Given the description of an element on the screen output the (x, y) to click on. 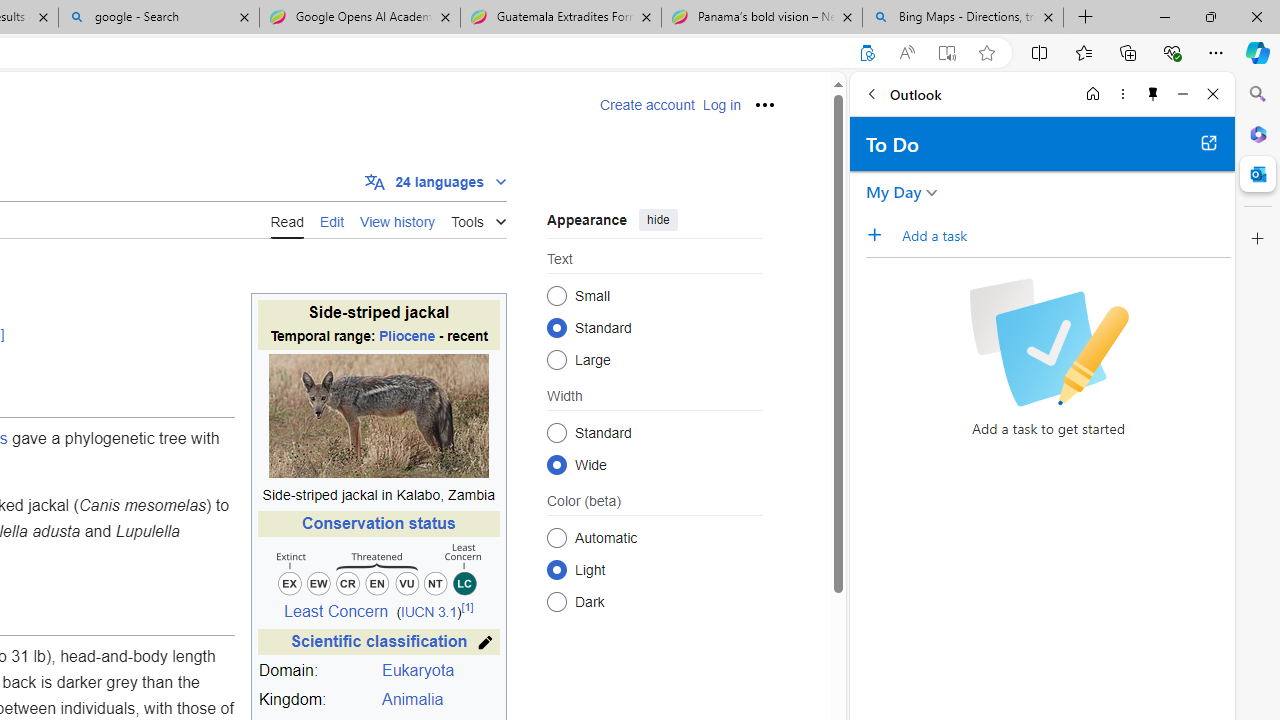
Domain: (317, 671)
Open in new tab (1208, 142)
Side-striped jackal Temporal range: Pliocene - recent (378, 325)
Automatic (556, 537)
Add a task (1065, 235)
Create account (647, 105)
Edit (331, 219)
My Day (893, 191)
Read (287, 219)
Personal tools (764, 104)
Support Wikipedia? (867, 53)
